Given the description of an element on the screen output the (x, y) to click on. 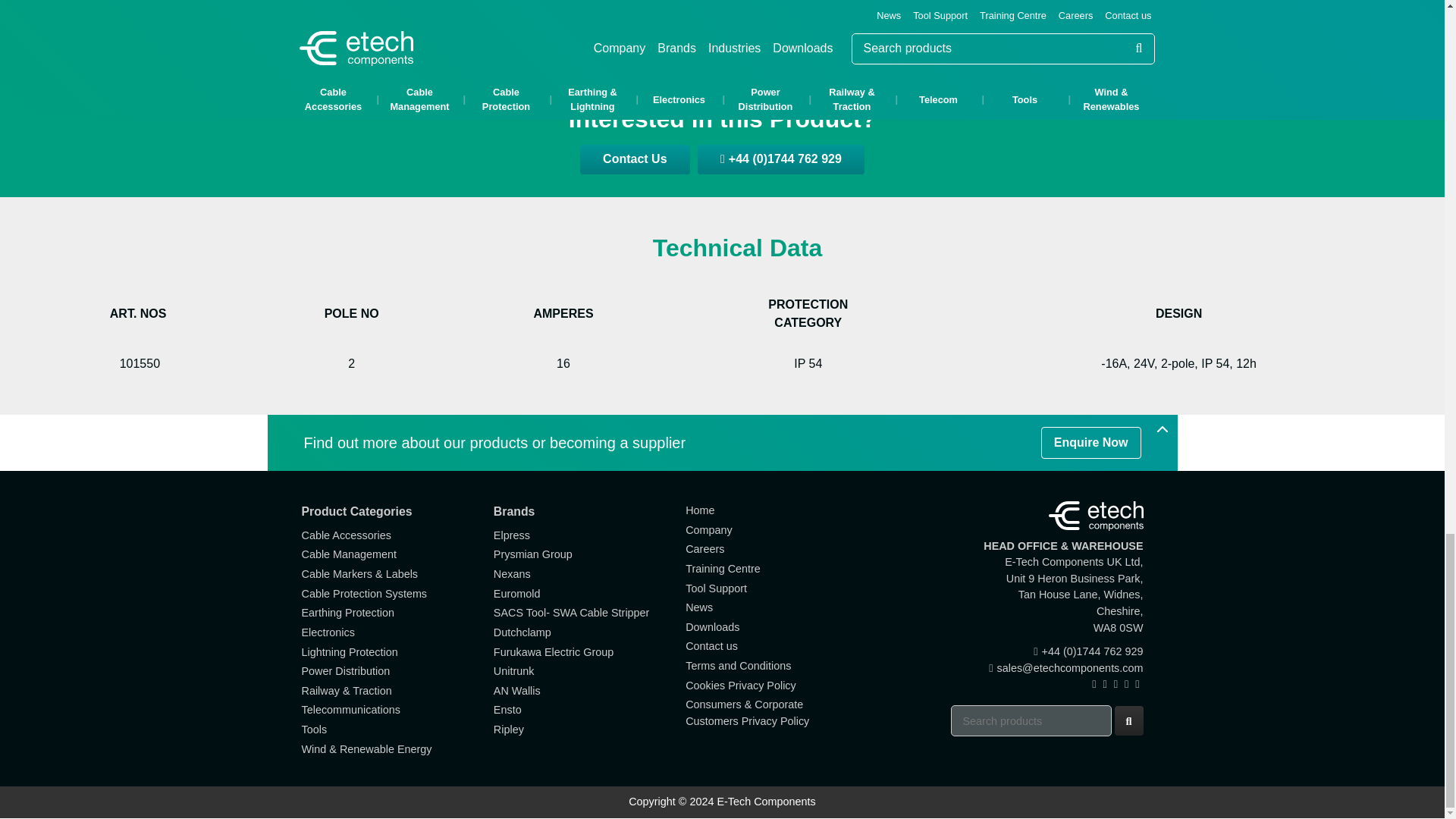
Download PDF: GIFAS CEE Plug Connectors (722, 28)
Contact us (633, 159)
Search products (1031, 720)
